Given the description of an element on the screen output the (x, y) to click on. 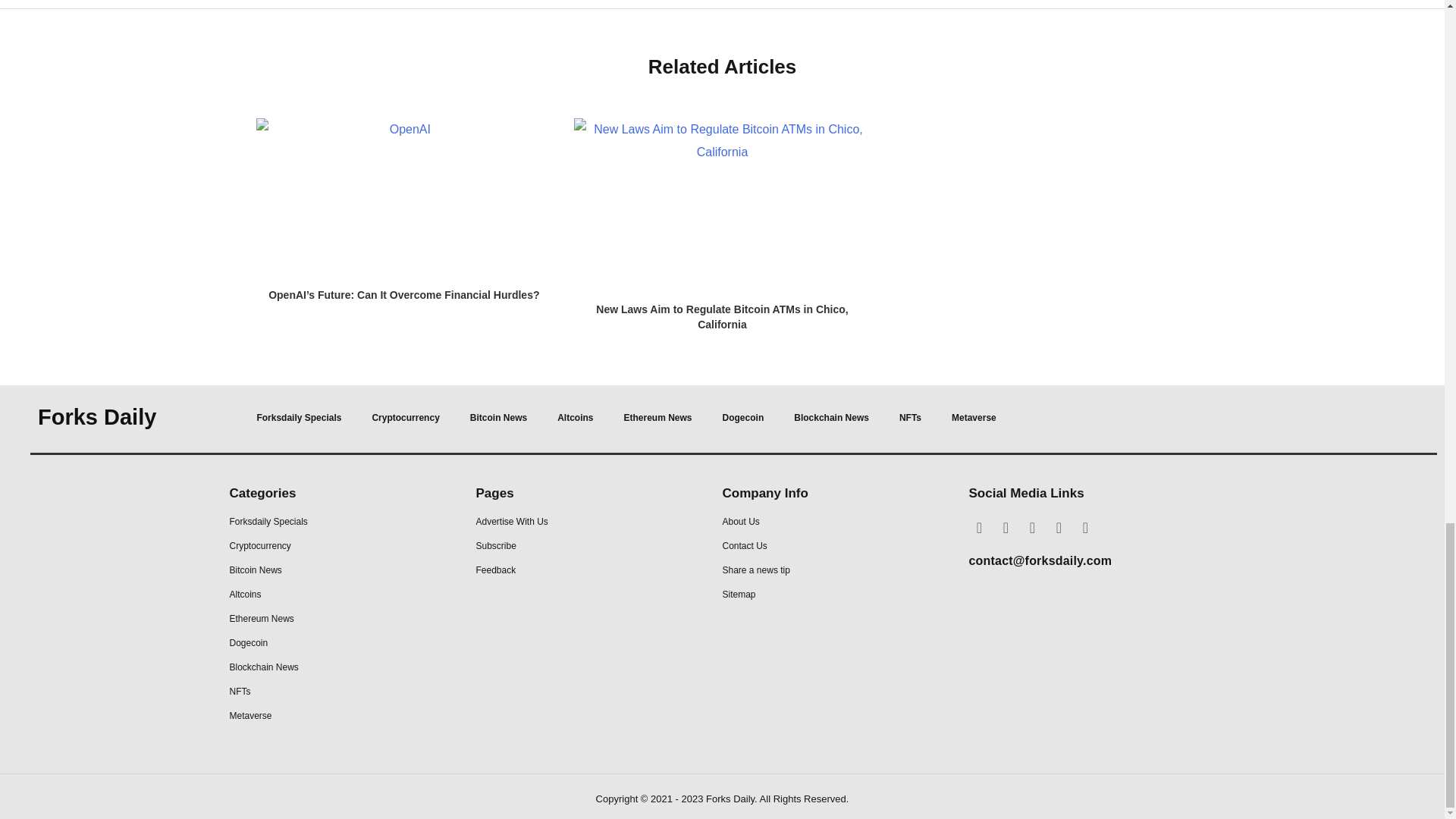
Cryptocurrency (405, 417)
Bitcoin News (497, 417)
Dogecoin (742, 417)
Ethereum News (657, 417)
Blockchain News (830, 417)
NFTs (909, 417)
New Laws Aim to Regulate Bitcoin ATMs in Chico, California (721, 316)
Forks Daily (96, 416)
Metaverse (973, 417)
Forksdaily Specials (298, 417)
